Given the description of an element on the screen output the (x, y) to click on. 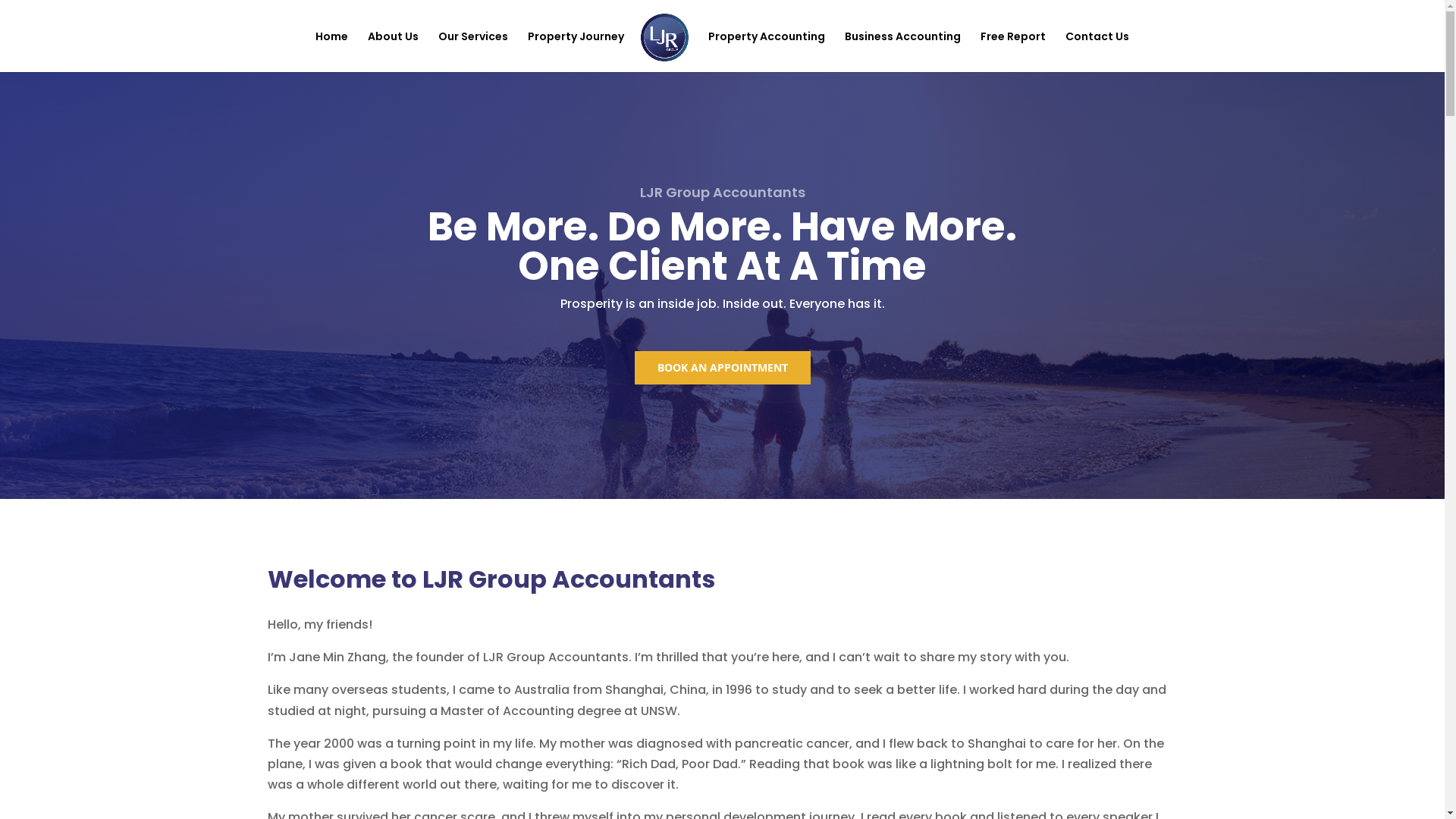
Our Services Element type: text (473, 51)
Home Element type: text (331, 51)
Contact Us Element type: text (1097, 51)
Free Report Element type: text (1012, 51)
About Us Element type: text (392, 51)
Business Accounting Element type: text (902, 51)
Property Accounting Element type: text (766, 51)
Property Journey Element type: text (575, 51)
BOOK AN APPOINTMENT Element type: text (721, 367)
